Given the description of an element on the screen output the (x, y) to click on. 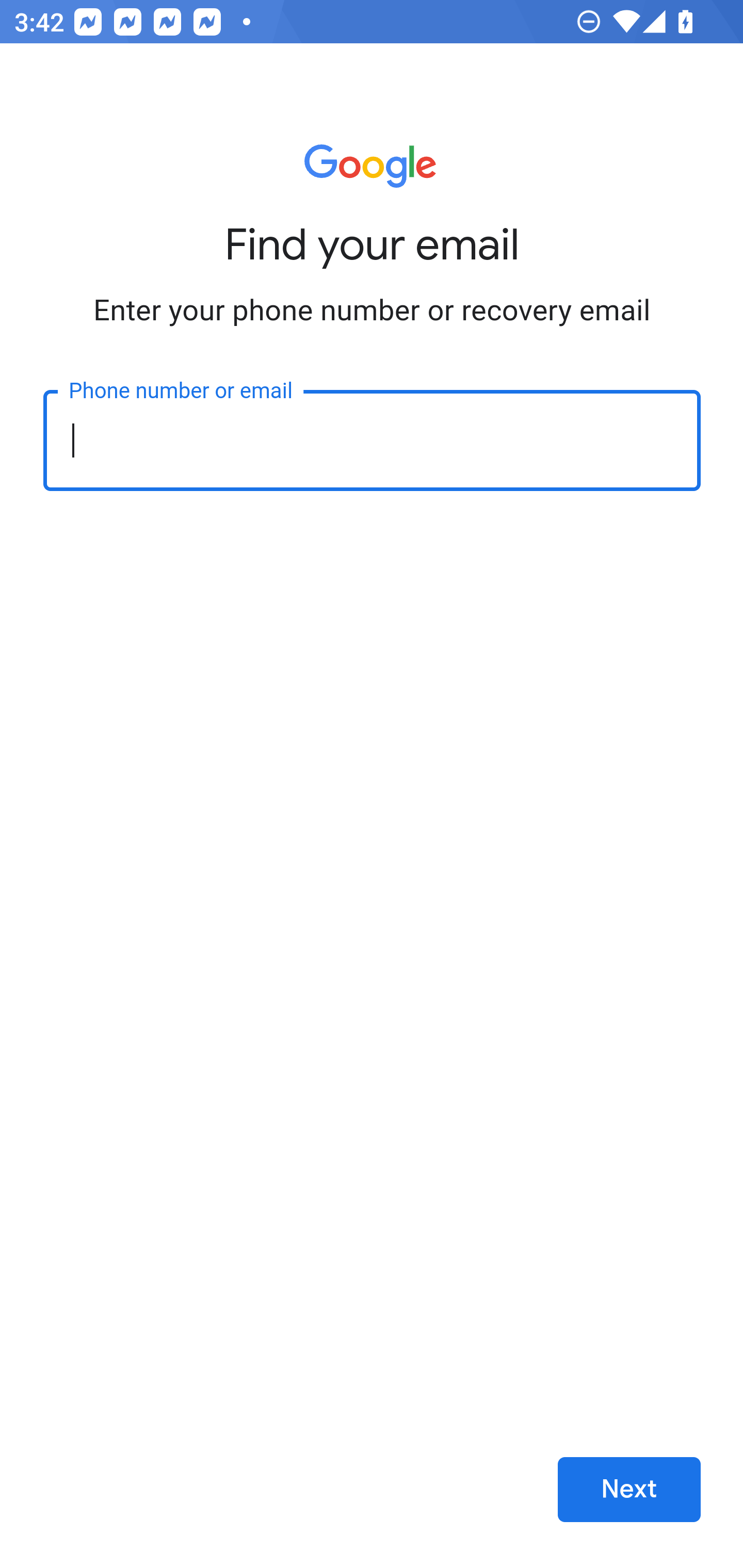
Next (629, 1490)
